Given the description of an element on the screen output the (x, y) to click on. 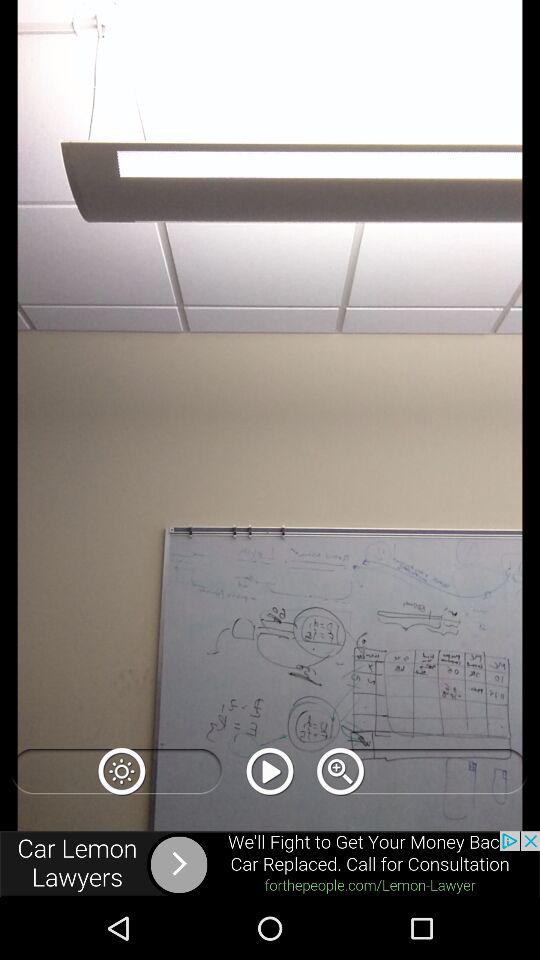
advertisement link (270, 864)
